Given the description of an element on the screen output the (x, y) to click on. 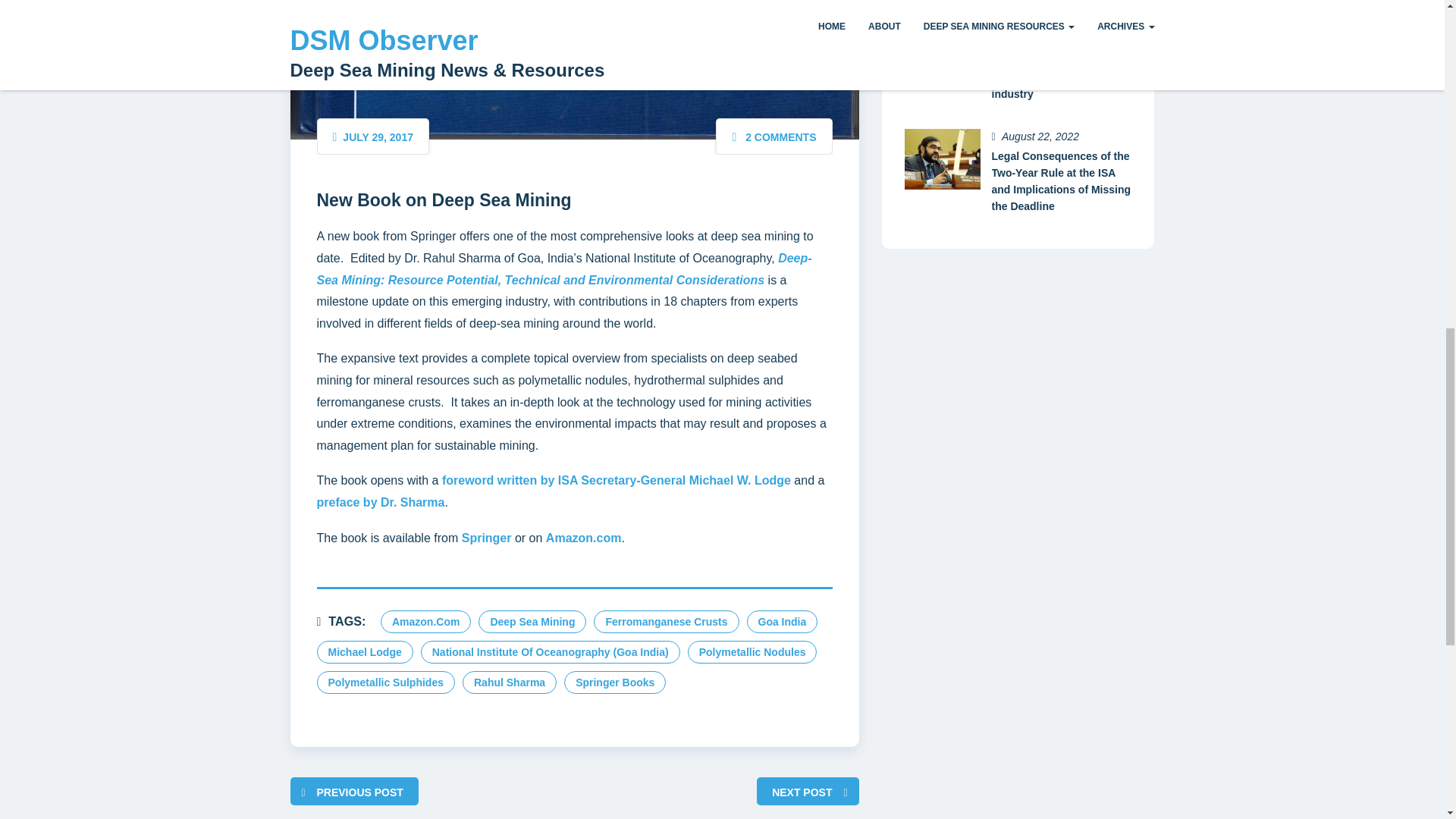
Michael Lodge (365, 651)
2 COMMENTS (780, 137)
Springer (486, 537)
Polymetallic Nodules (751, 651)
Amazon.Com (425, 621)
foreword written by ISA Secretary-General Michael W. Lodge (616, 480)
Polymetallic Sulphides (386, 681)
Rahul Sharma (509, 681)
Amazon.com (583, 537)
